Given the description of an element on the screen output the (x, y) to click on. 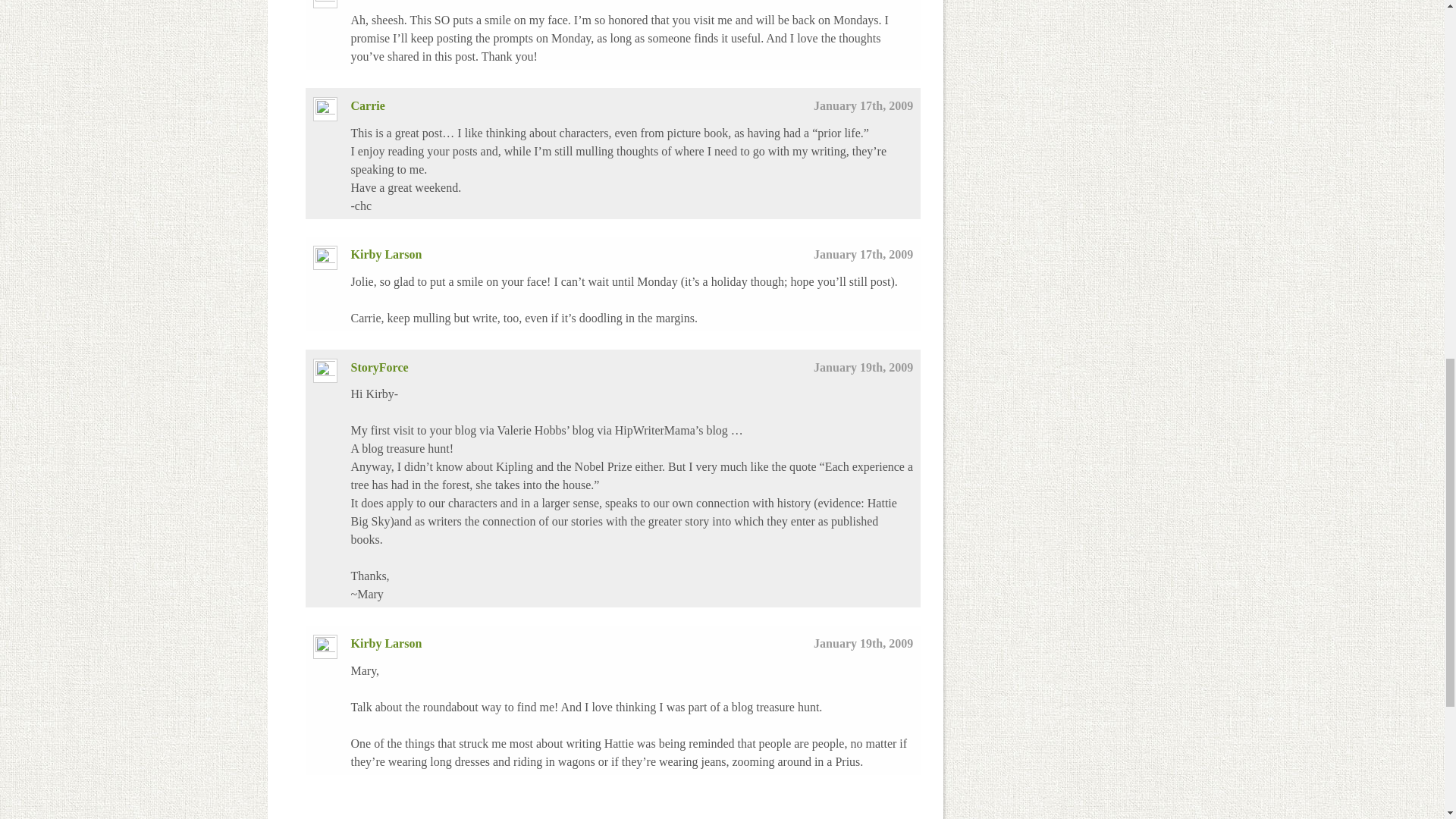
January 19th, 2009 (862, 367)
Kirby Larson (386, 254)
January 17th, 2009 (862, 105)
January 19th, 2009 (862, 643)
StoryForce (378, 367)
Kirby Larson (386, 643)
January 17th, 2009 (862, 254)
Carrie (367, 105)
